Given the description of an element on the screen output the (x, y) to click on. 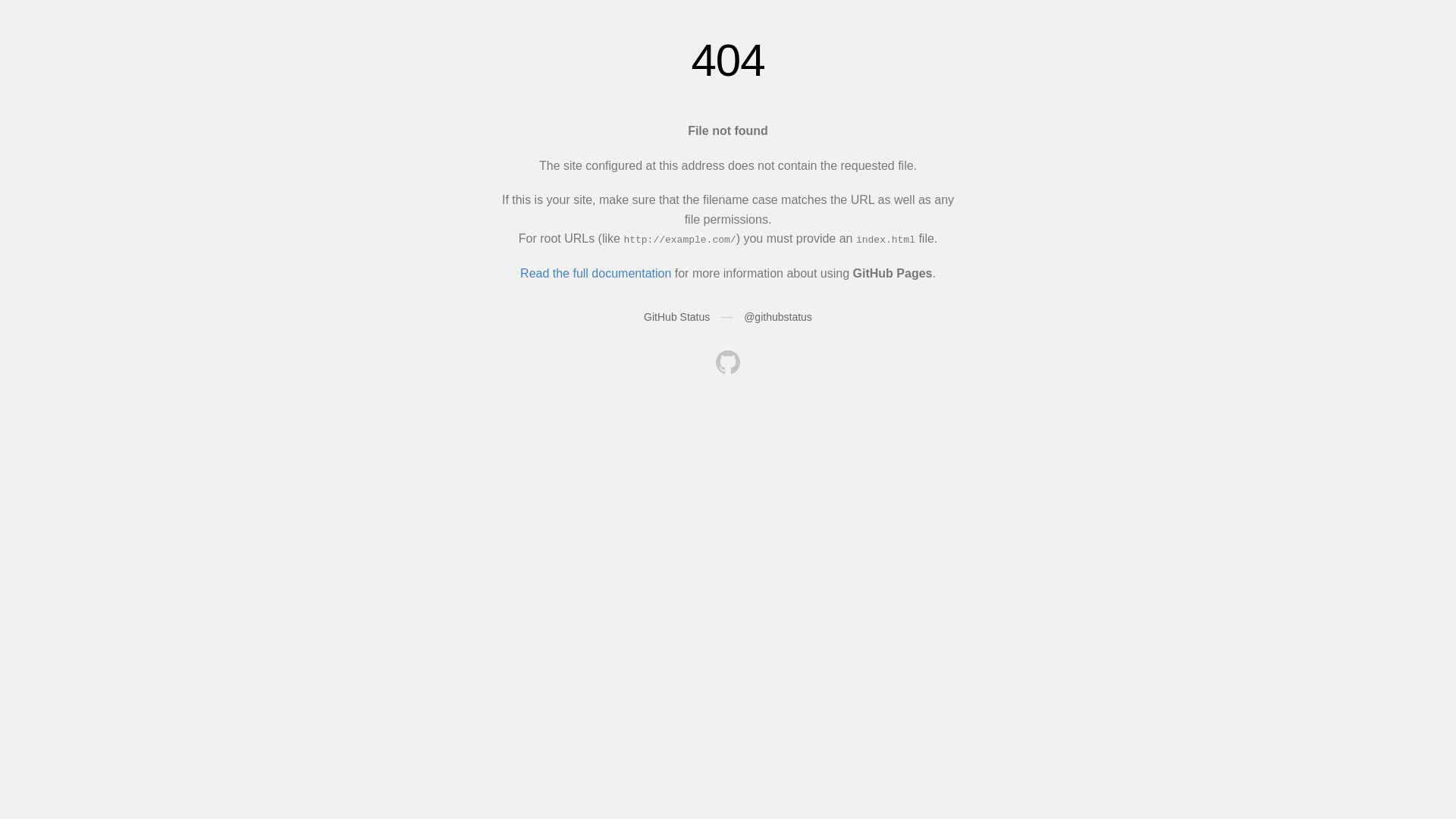
@githubstatus Element type: text (777, 316)
Read the full documentation Element type: text (595, 272)
GitHub Status Element type: text (676, 316)
